Given the description of an element on the screen output the (x, y) to click on. 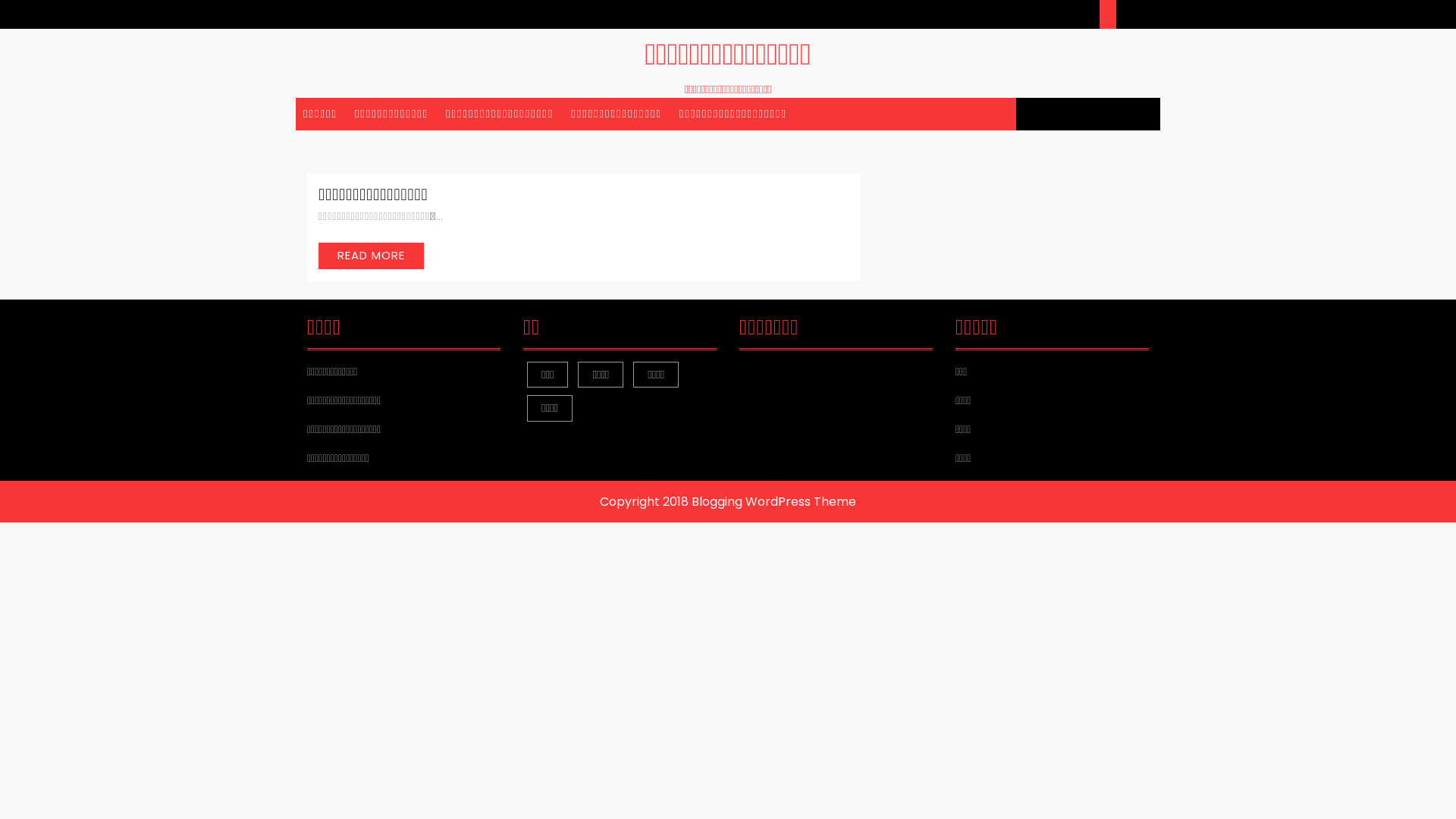
READ MORE Element type: text (370, 255)
Blogging WordPress Theme Element type: text (773, 501)
